Given the description of an element on the screen output the (x, y) to click on. 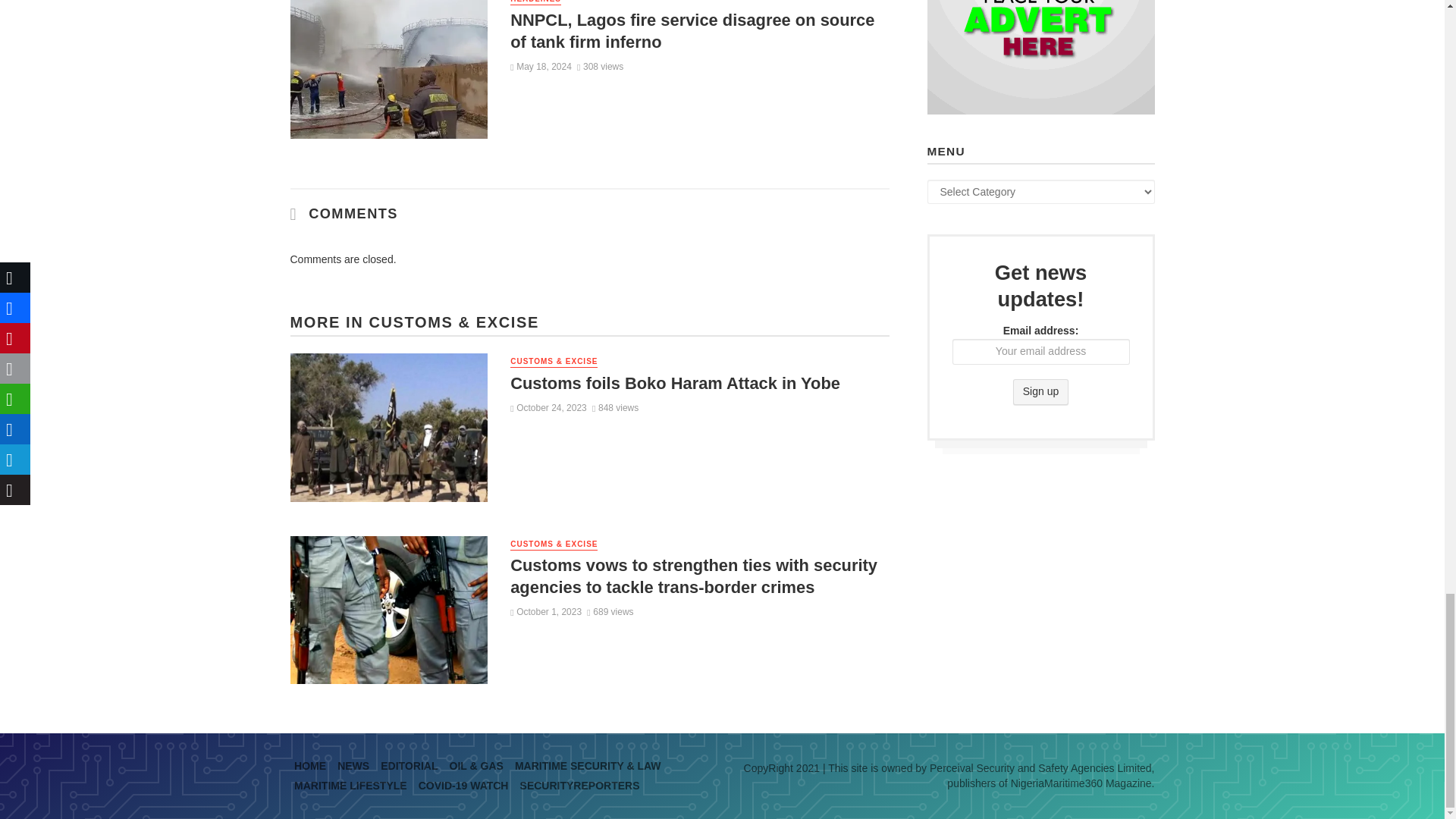
Sign up (1040, 391)
